Given the description of an element on the screen output the (x, y) to click on. 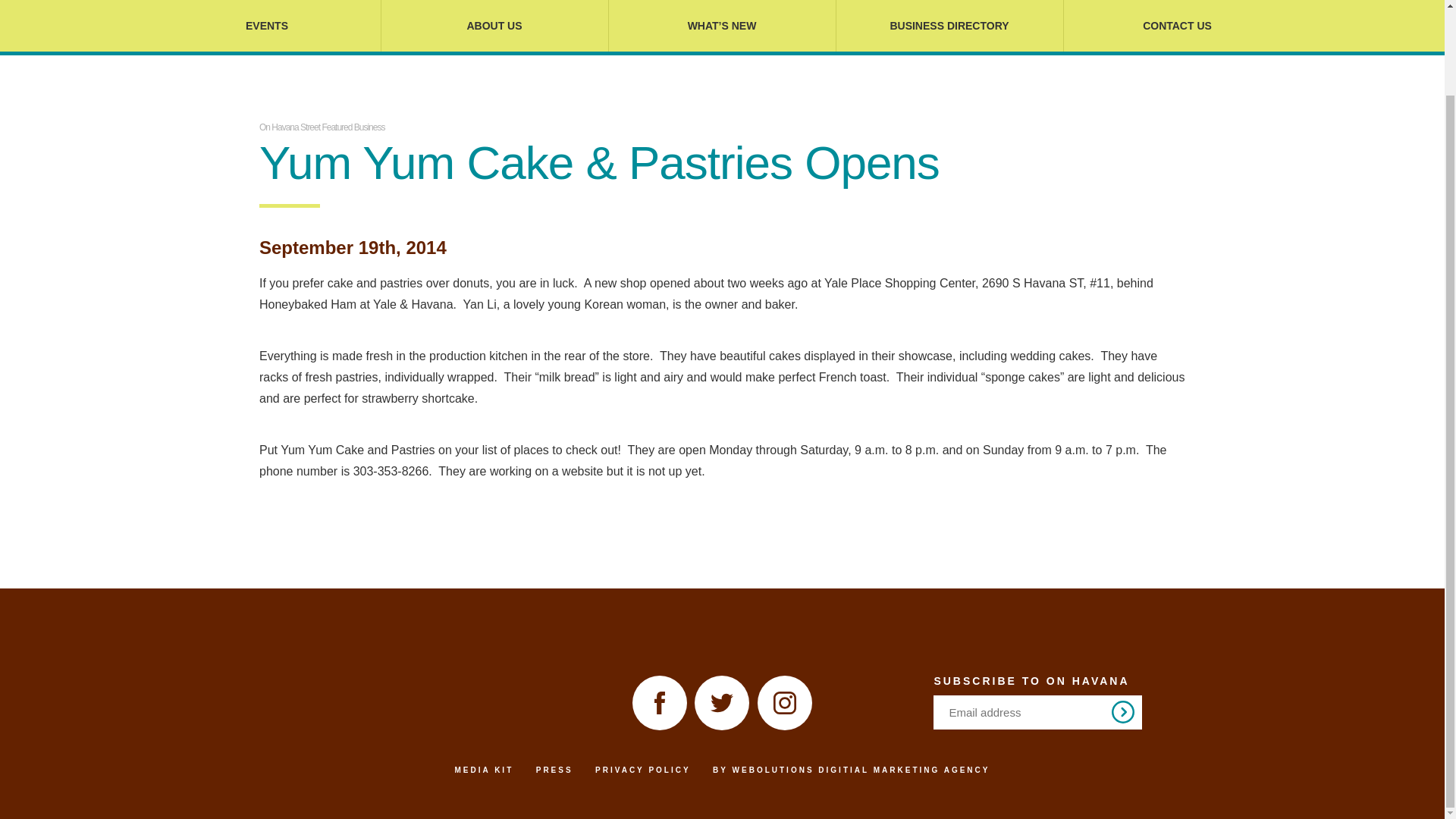
BY WEBOLUTIONS DIGITIAL MARKETING AGENCY (851, 769)
MEDIA KIT (483, 769)
PRIVACY POLICY (642, 769)
Next (1123, 712)
PRESS (554, 769)
